Given the description of an element on the screen output the (x, y) to click on. 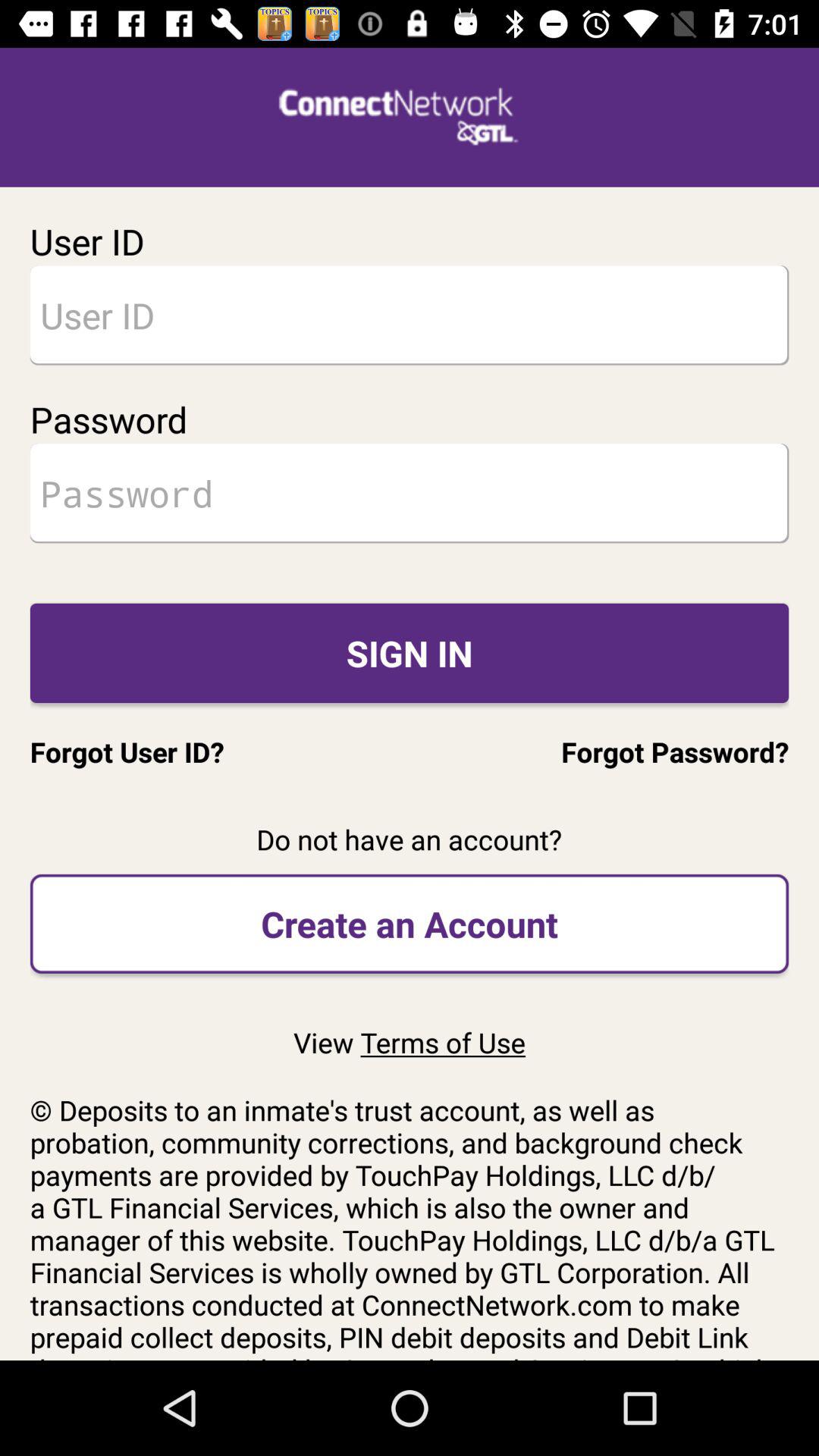
scroll to the sign in icon (409, 652)
